Given the description of an element on the screen output the (x, y) to click on. 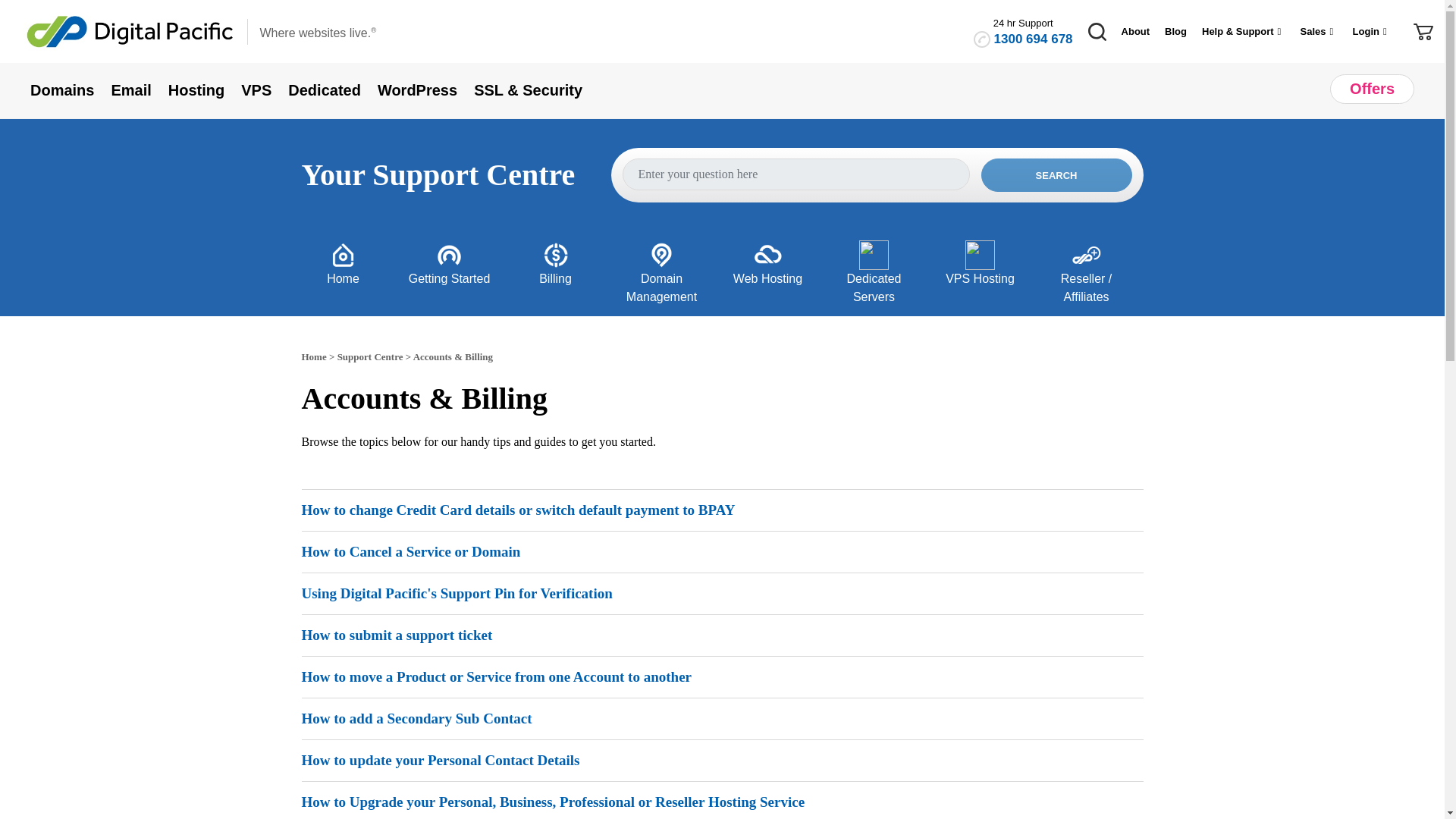
Login (1371, 31)
Domains (70, 90)
Blog (1175, 31)
View your Cart (1422, 30)
About (1135, 31)
Sales (1319, 31)
Call 1300 694 678 (1033, 38)
1300 694 678 (1033, 38)
